Given the description of an element on the screen output the (x, y) to click on. 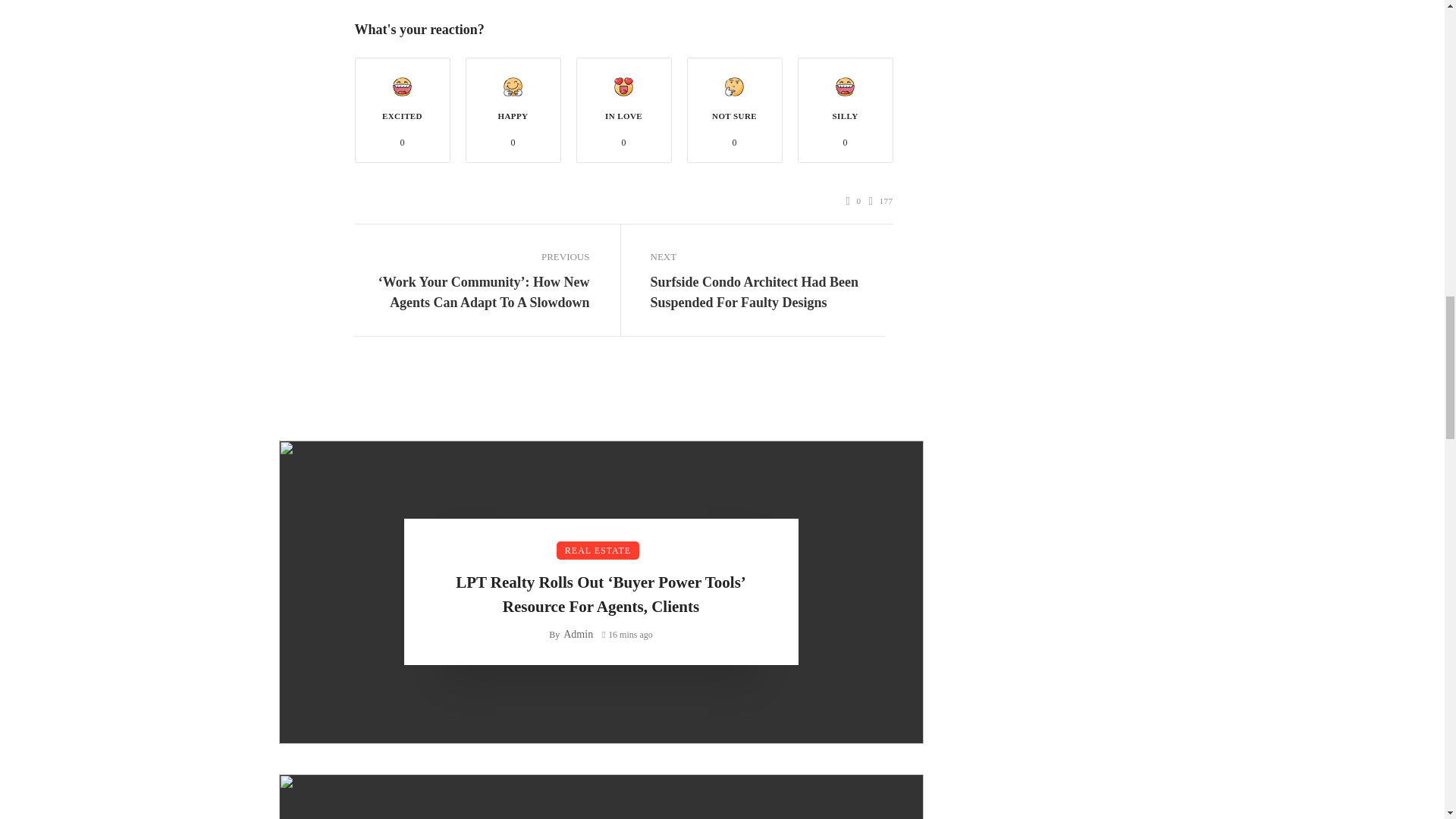
177 (881, 201)
REAL ESTATE (597, 550)
Admin (577, 633)
PREVIOUS (472, 256)
0 (853, 201)
NEXT (767, 256)
